Given the description of an element on the screen output the (x, y) to click on. 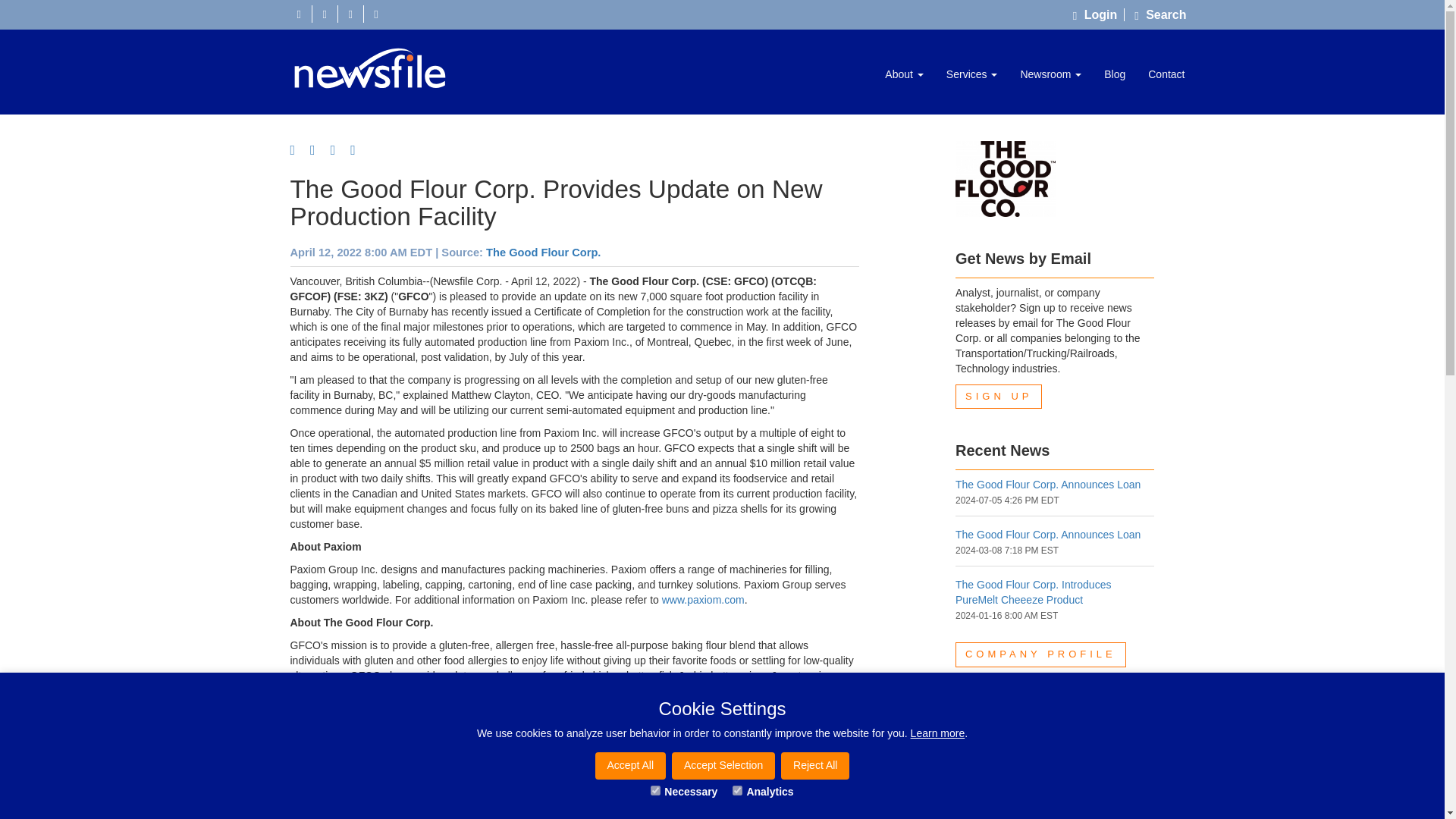
Search (1160, 14)
Services (971, 74)
Learn more (938, 733)
Analytics (737, 790)
Accept Selection (722, 765)
Necessary (655, 790)
Login (1098, 14)
About (903, 74)
Accept All (630, 765)
Reject All (814, 765)
